Given the description of an element on the screen output the (x, y) to click on. 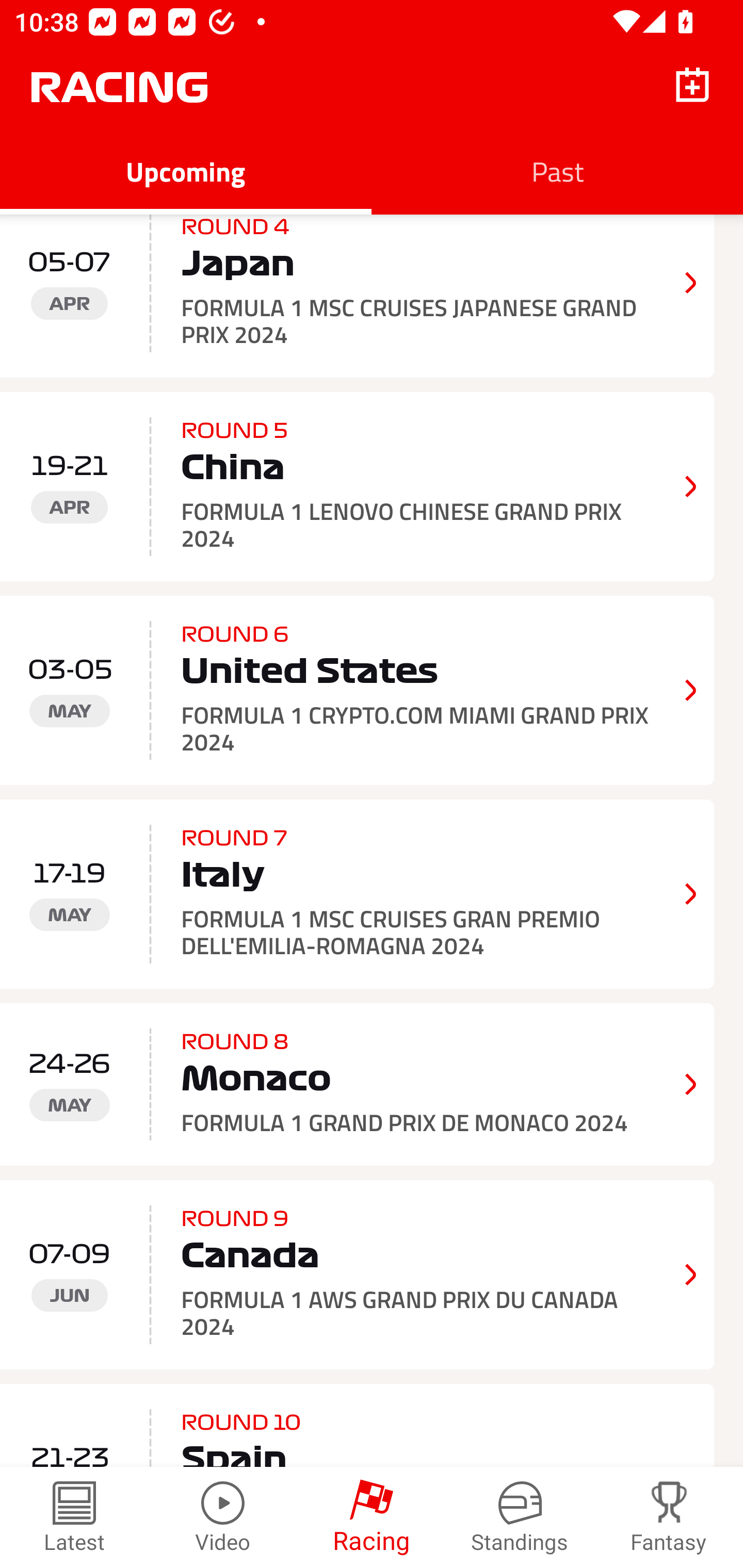
Past (557, 171)
Latest (74, 1517)
Video (222, 1517)
Standings (519, 1517)
Fantasy (668, 1517)
